Given the description of an element on the screen output the (x, y) to click on. 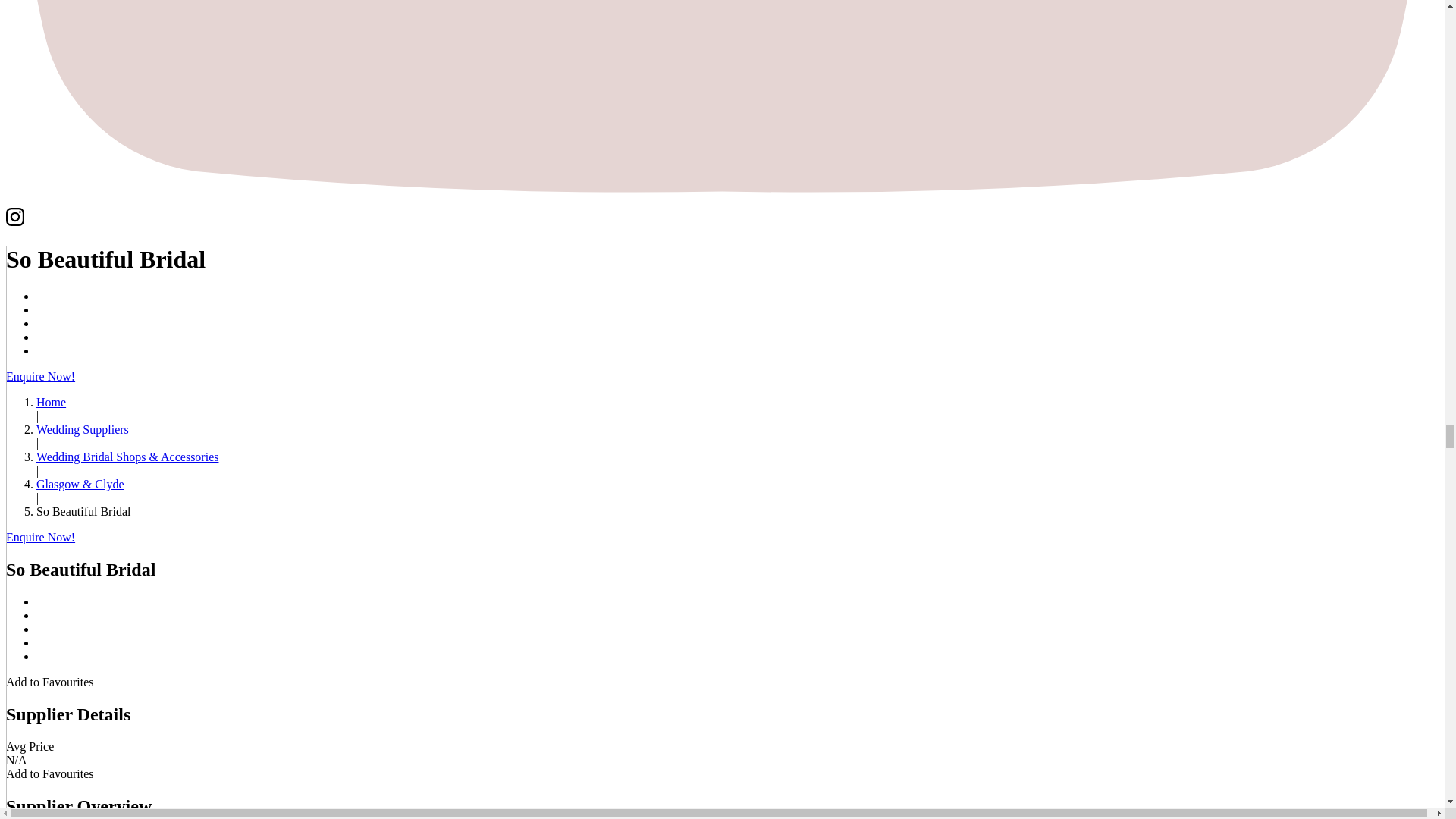
Wedding Suppliers (82, 429)
Enquire Now! (40, 376)
Home (50, 401)
